Given the description of an element on the screen output the (x, y) to click on. 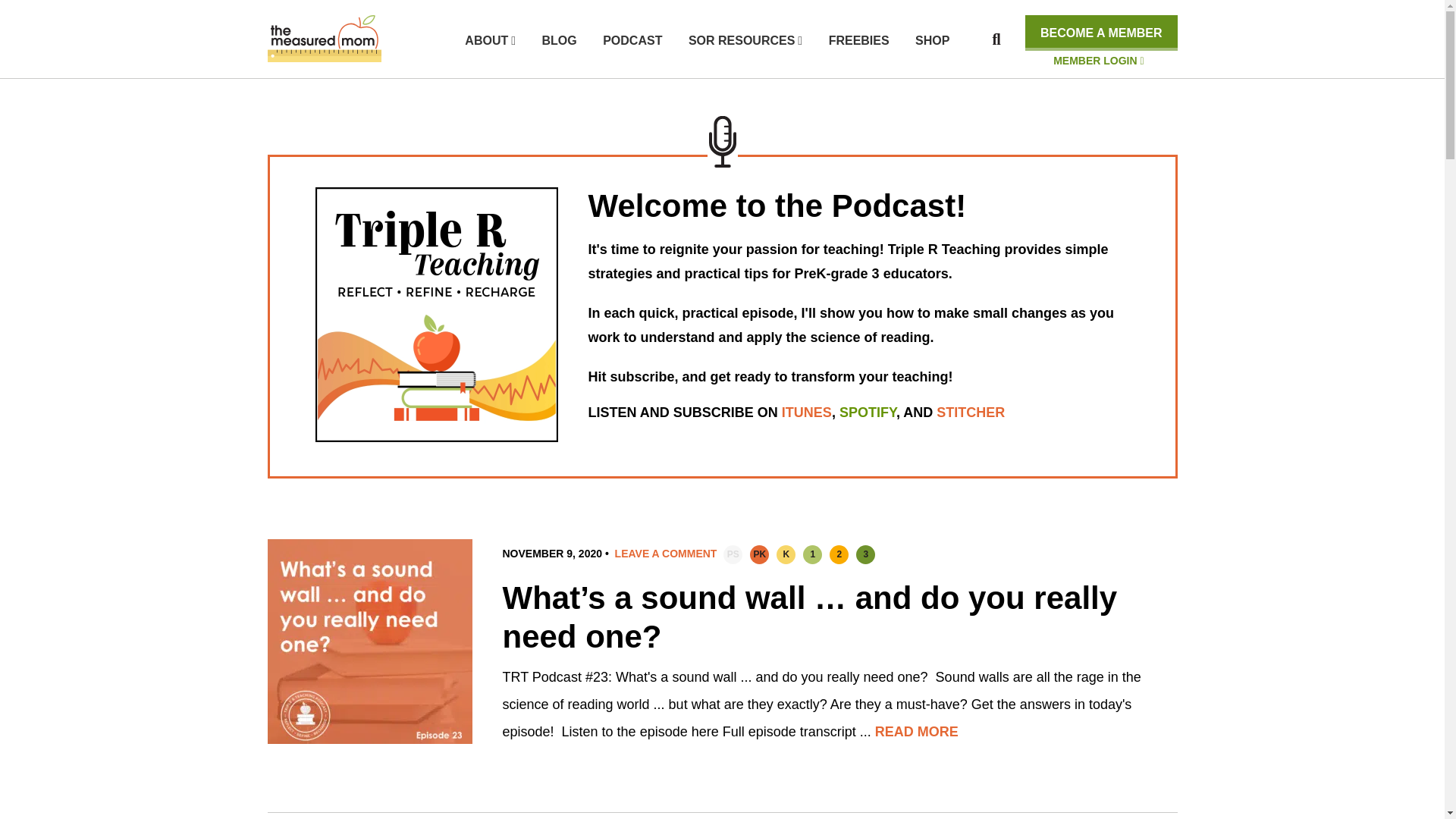
PODCAST (632, 40)
K (785, 554)
BLOG (558, 40)
BECOME A MEMBER (1101, 32)
ABOUT (489, 40)
SOR RESOURCES (745, 40)
FREEBIES (858, 40)
The Measured Mom (323, 38)
MEMBER LOGIN (1098, 60)
1 (812, 554)
